Given the description of an element on the screen output the (x, y) to click on. 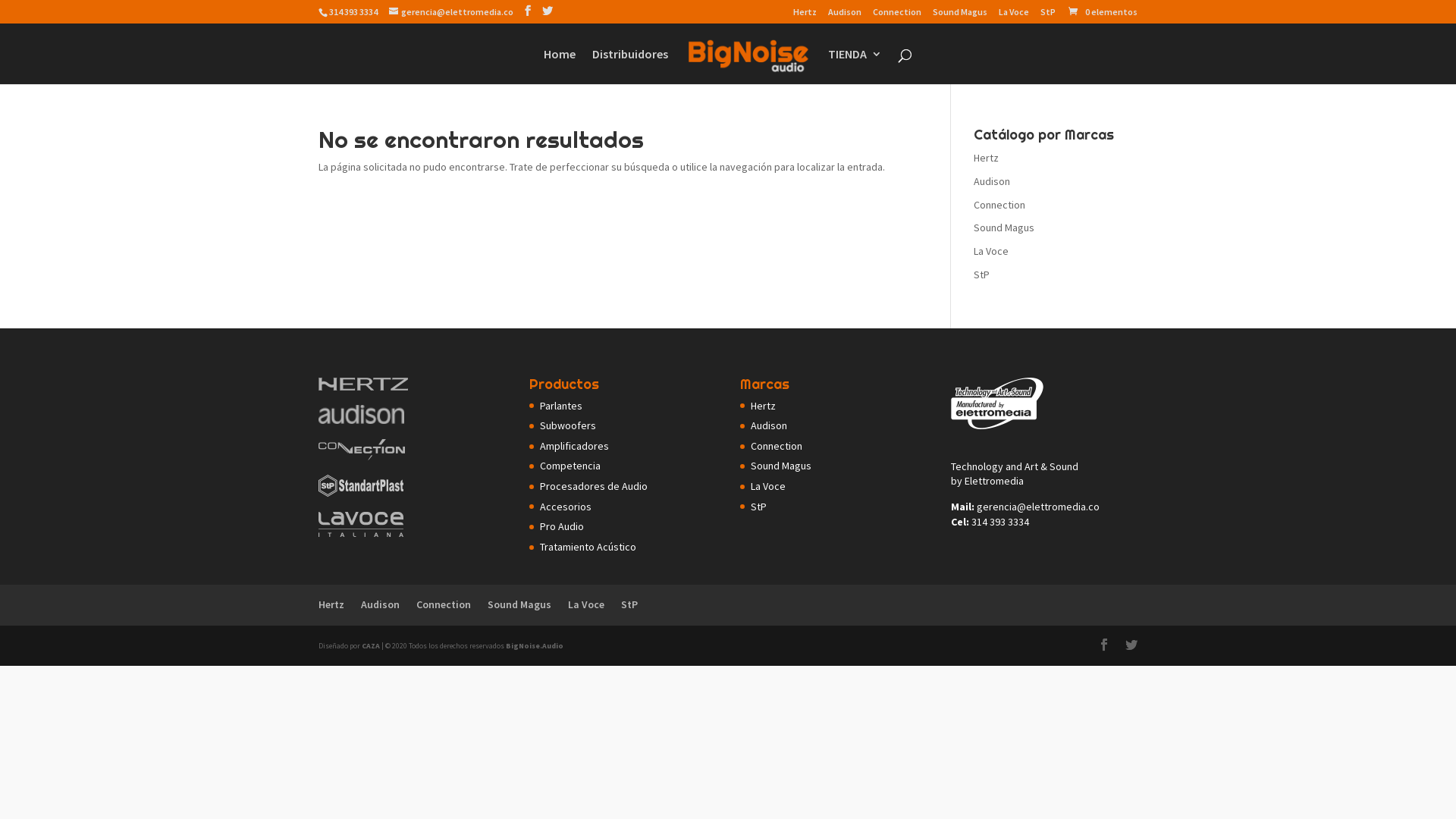
StP Element type: text (629, 604)
StP Element type: text (1047, 15)
0 elementos Element type: text (1101, 11)
La Voce Element type: text (767, 485)
Home Element type: text (559, 66)
Subwoofers Element type: text (567, 425)
Connection Element type: text (999, 204)
Audison Element type: text (379, 604)
Connection Element type: text (443, 604)
Amplificadores Element type: text (573, 445)
Hertz Element type: text (331, 604)
Accesorios Element type: text (565, 506)
Sound Magus Element type: text (1003, 227)
Hertz Element type: text (804, 15)
StP Element type: text (758, 506)
Connection Element type: text (896, 15)
La Voce Element type: text (990, 250)
Audison Element type: text (991, 181)
TIENDA Element type: text (854, 66)
Connection Element type: text (776, 445)
Distribuidores Element type: text (630, 66)
Hertz Element type: text (762, 405)
La Voce Element type: text (585, 604)
StP Element type: text (981, 274)
gerencia@elettromedia.co Element type: text (451, 11)
Sound Magus Element type: text (780, 465)
Audison Element type: text (844, 15)
Audison Element type: text (768, 425)
Procesadores de Audio Element type: text (593, 485)
La Voce Element type: text (1013, 15)
Hertz Element type: text (985, 157)
Pro Audio Element type: text (561, 526)
BigNoise.Audio Element type: text (534, 645)
CAZA Element type: text (370, 645)
Competencia Element type: text (569, 465)
Parlantes Element type: text (560, 405)
Sound Magus Element type: text (519, 604)
Sound Magus Element type: text (959, 15)
